Given the description of an element on the screen output the (x, y) to click on. 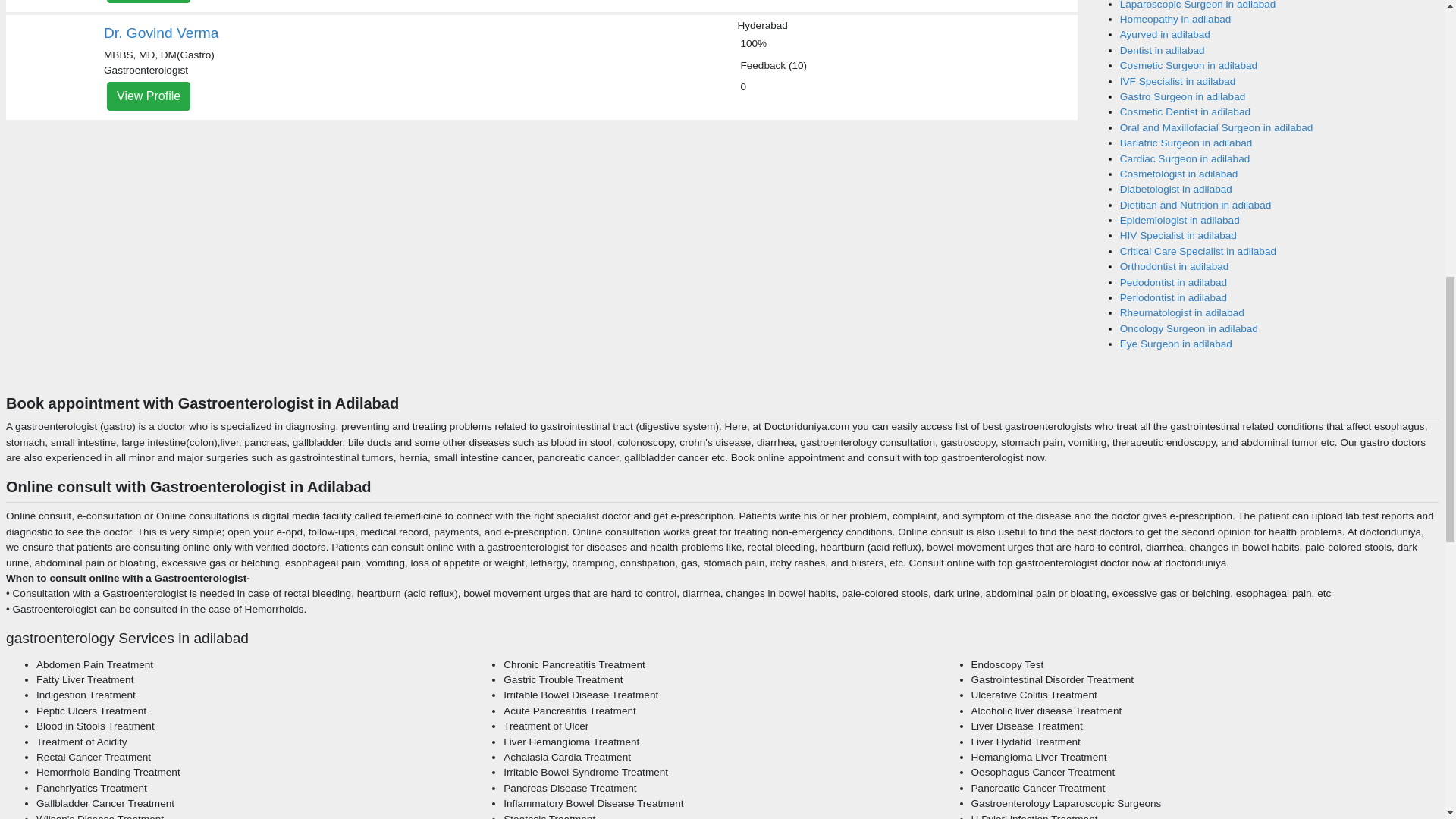
View Profile (148, 95)
Dr. Govind Verma (160, 32)
View Profile (148, 1)
